Given the description of an element on the screen output the (x, y) to click on. 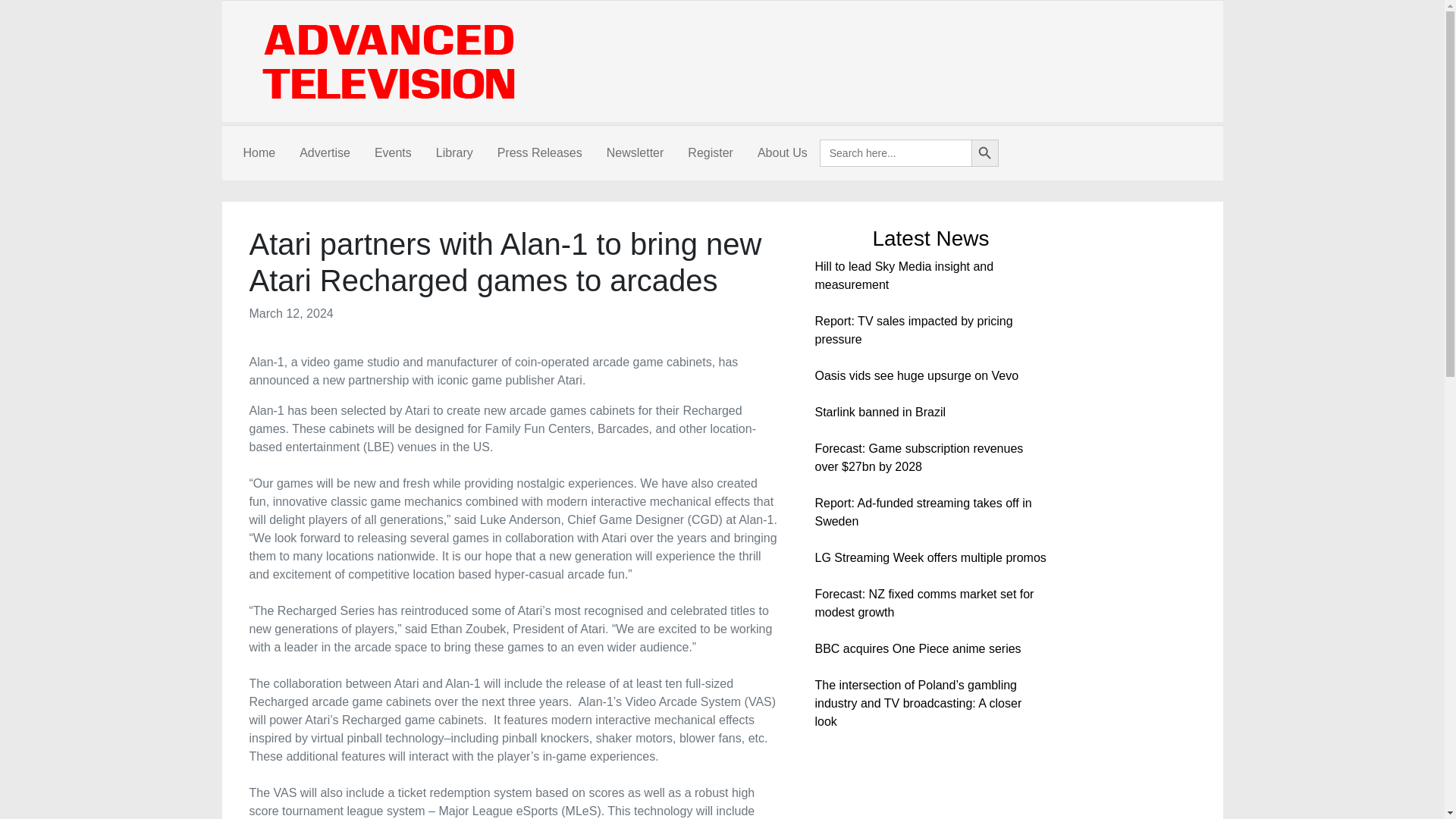
Forecast: NZ fixed comms market set for modest growth (923, 603)
Register (710, 153)
Advertise (324, 153)
LG Streaming Week offers multiple promos (929, 557)
Starlink banned in Brazil (878, 411)
BBC acquires One Piece anime series (916, 648)
Report: TV sales impacted by pricing pressure (912, 329)
Hill to lead Sky Media insight and measurement (902, 275)
Events (392, 153)
Press Releases (539, 153)
